Given the description of an element on the screen output the (x, y) to click on. 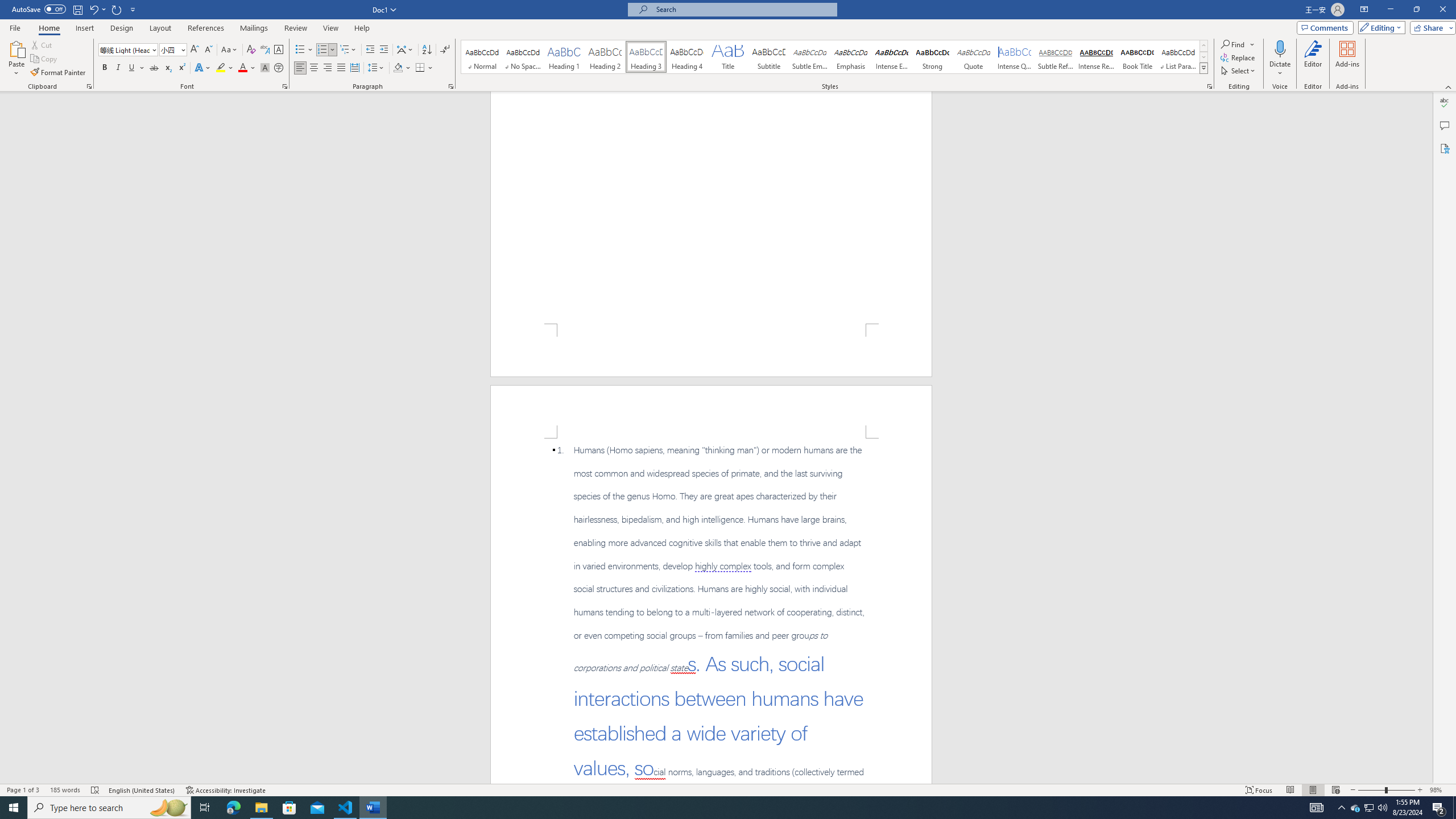
Spelling and Grammar Check Errors (94, 790)
Subtle Emphasis (809, 56)
